Given the description of an element on the screen output the (x, y) to click on. 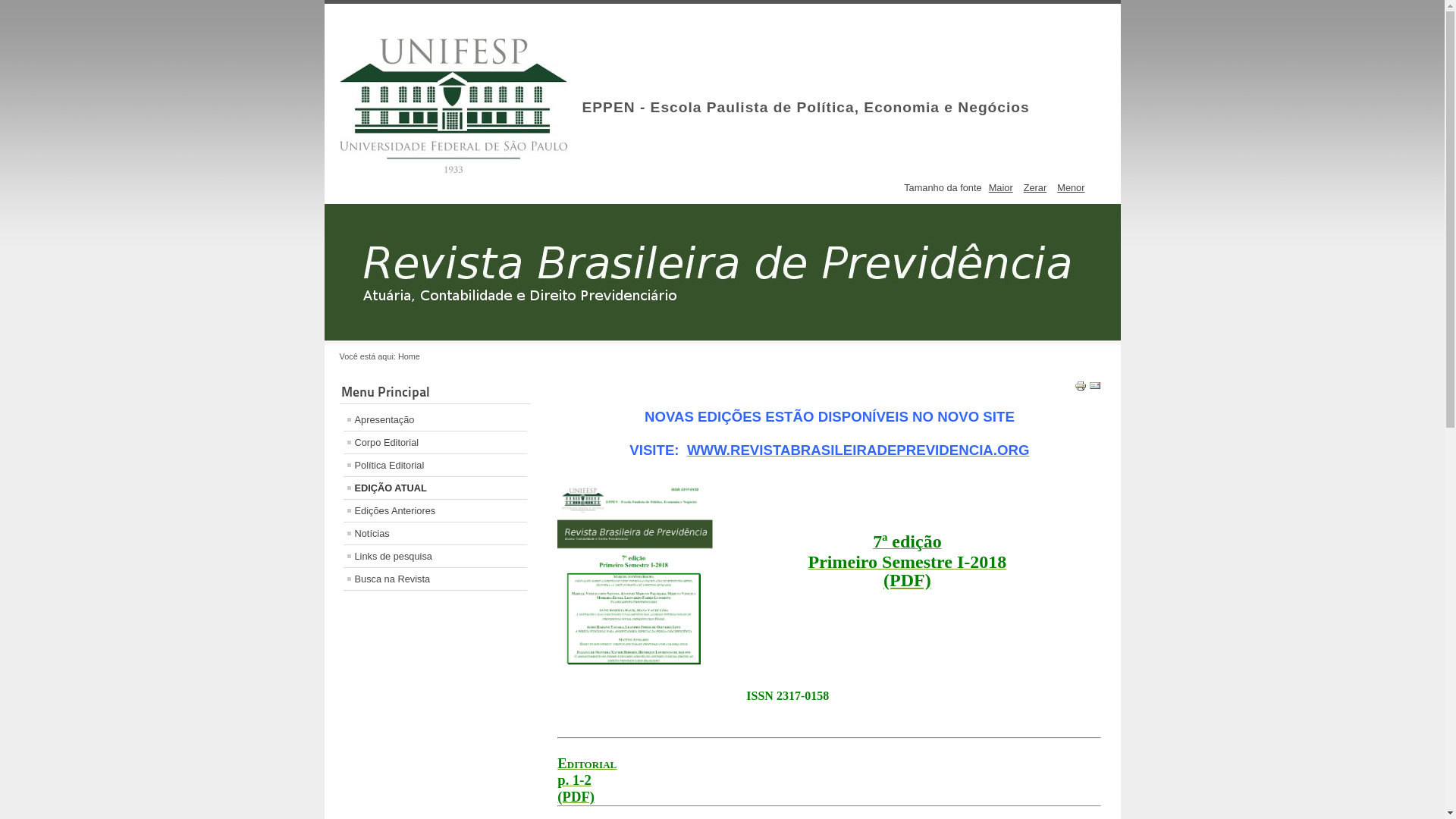
Maior Element type: text (1000, 187)
(PDF) Element type: text (575, 796)
Links de pesquisa Element type: text (434, 556)
Busca na Revista Element type: text (434, 578)
Imprimir Element type: hover (1080, 388)
Corpo Editorial Element type: text (434, 442)
1-2 Element type: text (581, 779)
Zerar Element type: text (1035, 187)
E-mail Element type: hover (1094, 388)
p. Element type: text (564, 779)
WWW.REVISTABRASILEIRADEPREVIDENCIA.ORG Element type: text (858, 450)
Editorial Element type: text (586, 763)
(PDF) Element type: text (907, 579)
Menor Element type: text (1070, 187)
Primeiro Semestre I-2018 Element type: text (907, 564)
